Given the description of an element on the screen output the (x, y) to click on. 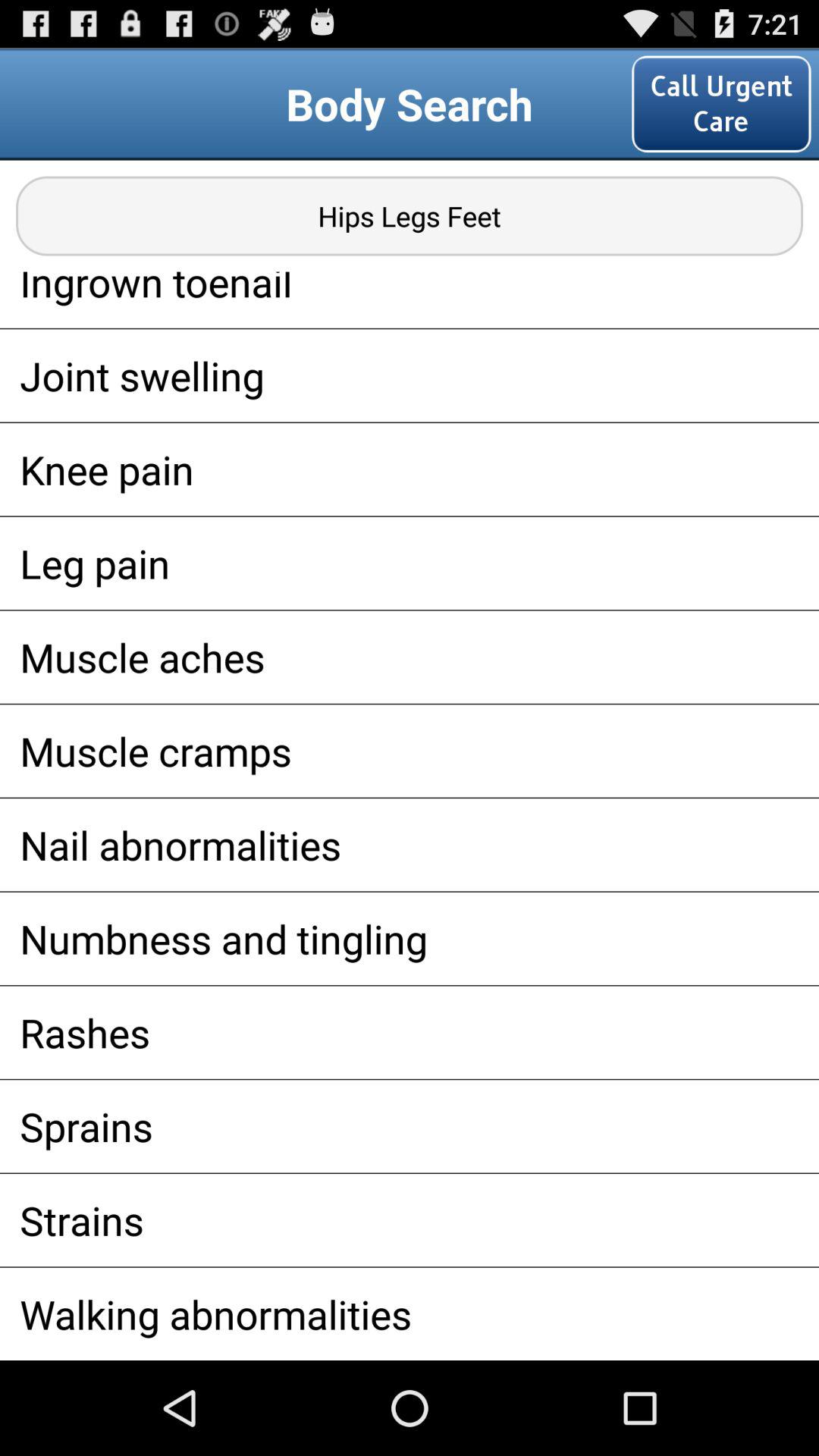
turn off leg pain (409, 562)
